Given the description of an element on the screen output the (x, y) to click on. 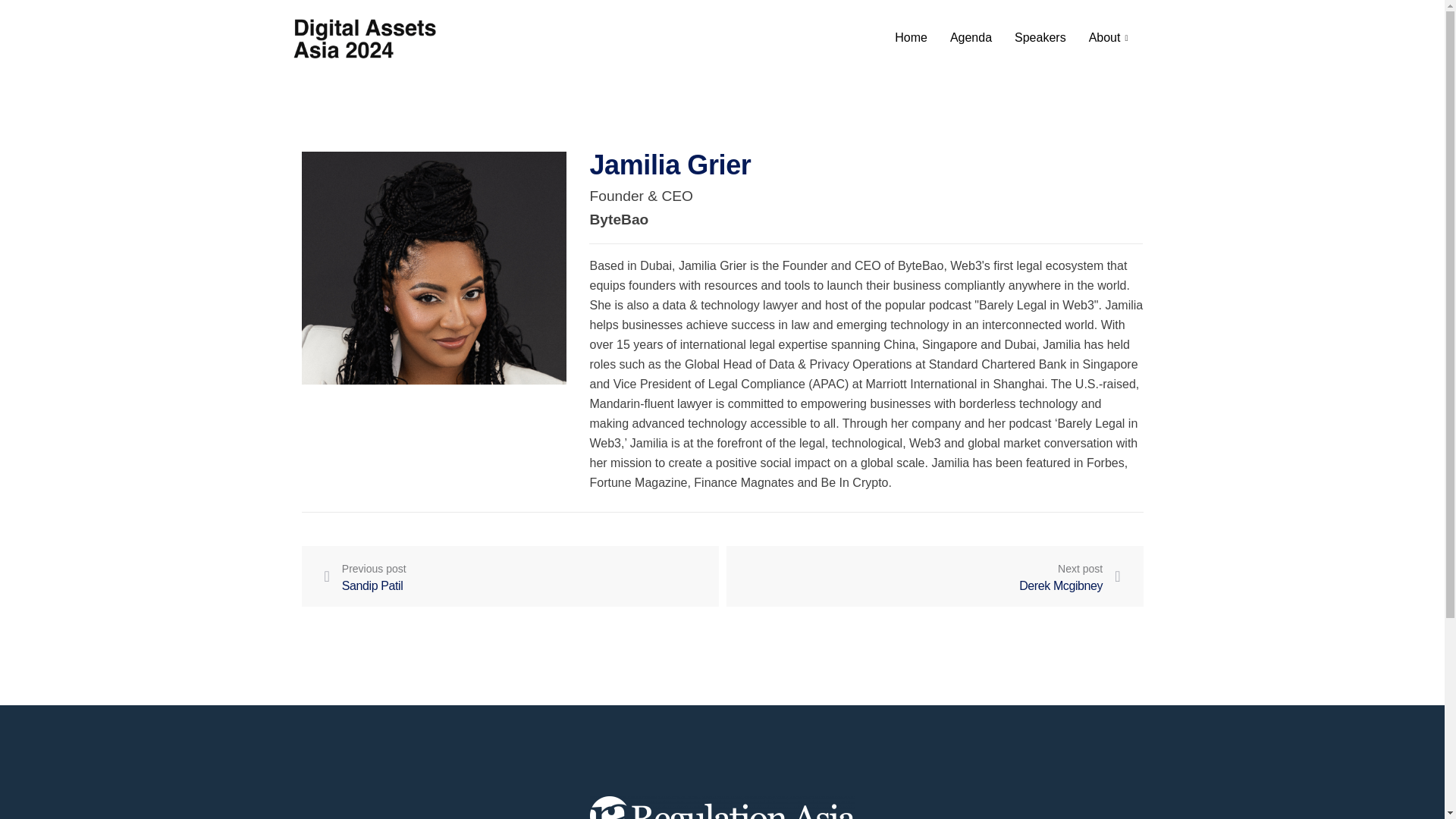
Speakers (934, 576)
